Given the description of an element on the screen output the (x, y) to click on. 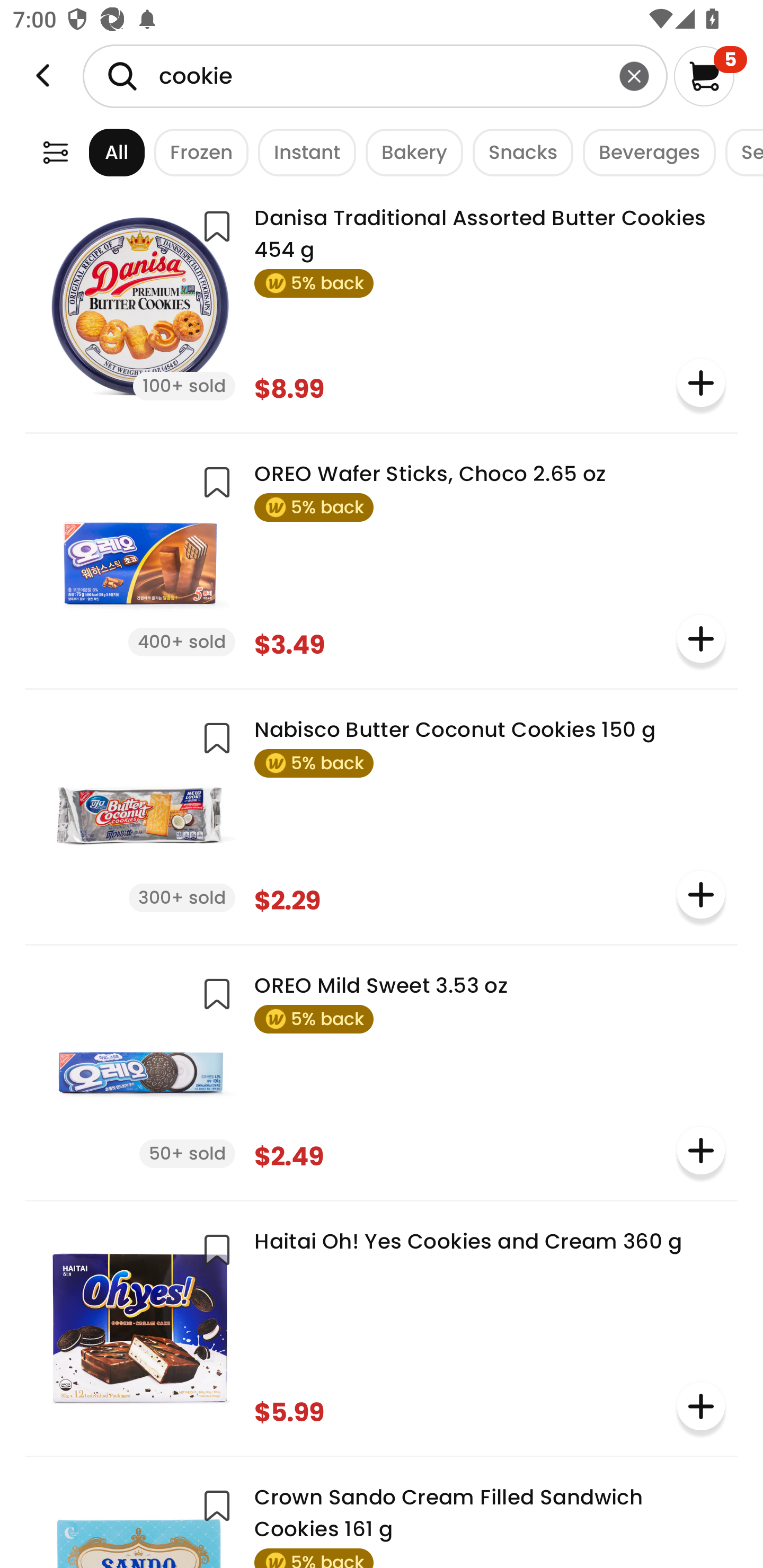
cookie (374, 75)
5 (709, 75)
Weee! (42, 76)
Weee! (55, 151)
All (99, 151)
Frozen (196, 151)
Instant (302, 151)
Bakery (409, 151)
Snacks (518, 151)
Beverages (644, 151)
